Given the description of an element on the screen output the (x, y) to click on. 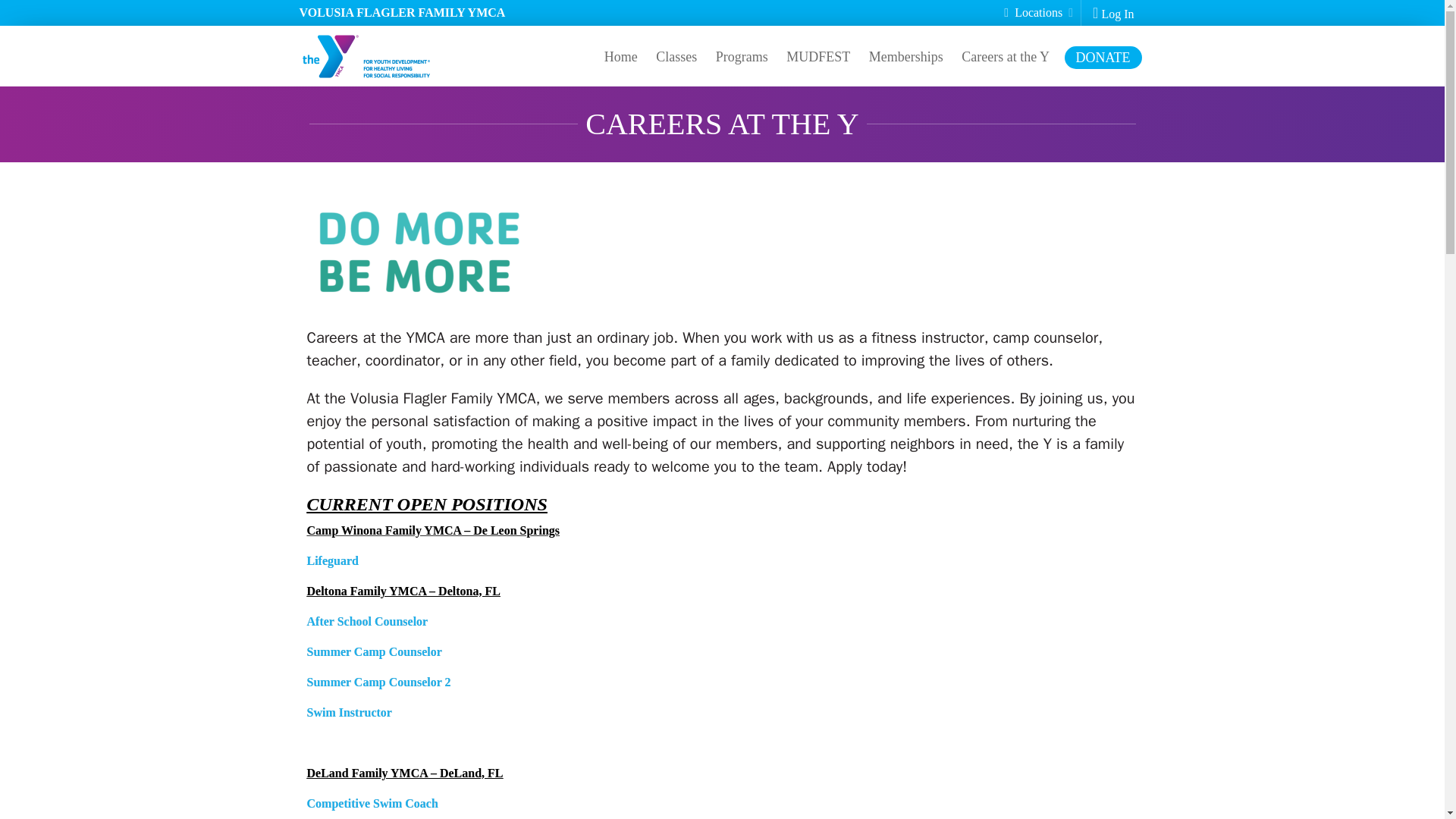
Lifeguard (331, 560)
Summer Camp Counselor (373, 651)
Classes (675, 57)
Programs (741, 57)
Memberships (905, 57)
Log In (1112, 13)
DONATE (1102, 56)
After School Counselor (366, 621)
Careers at the Y (1005, 57)
Home (620, 57)
MUDFEST (817, 57)
